Given the description of an element on the screen output the (x, y) to click on. 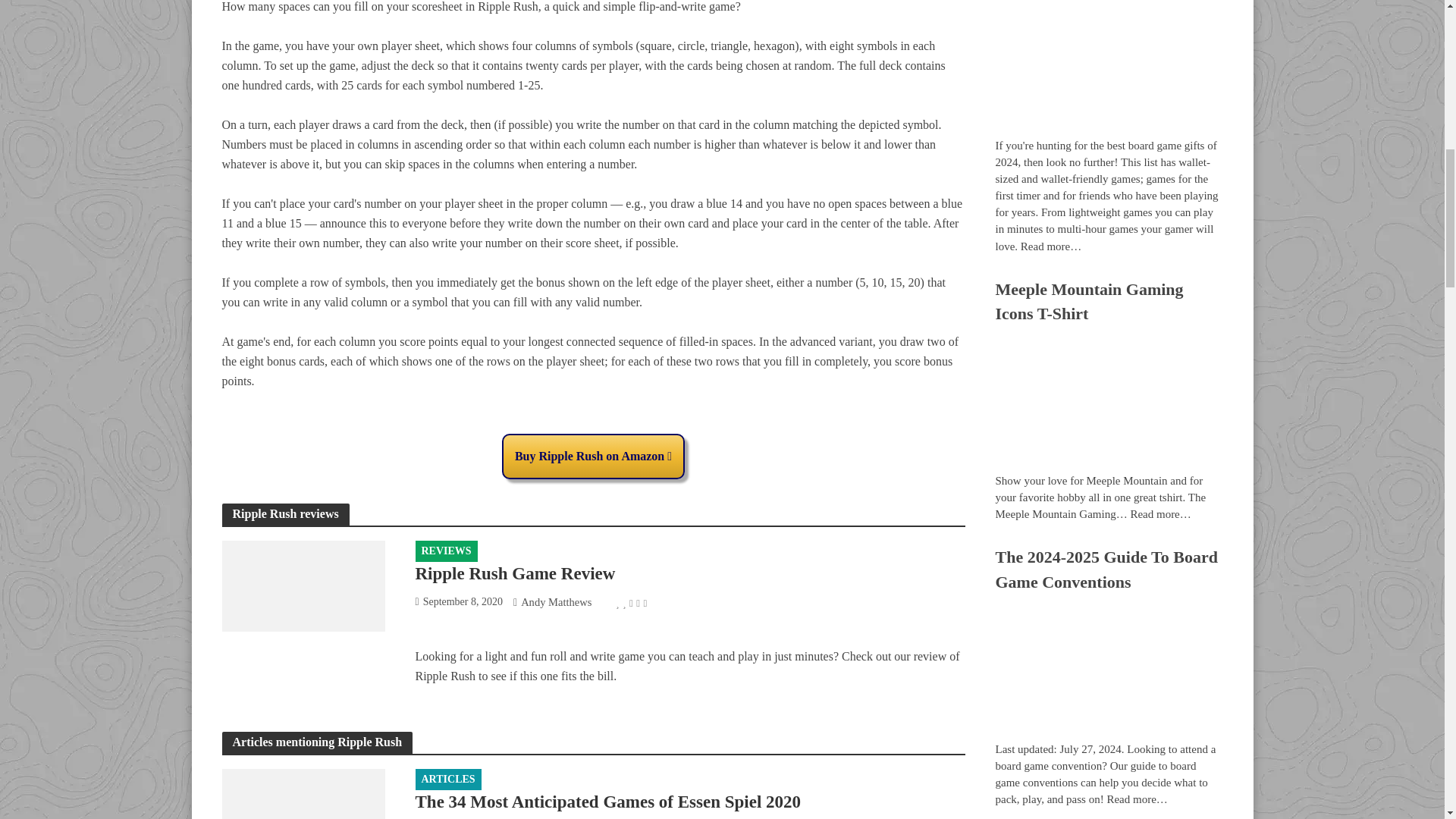
The 34 Most Anticipated Games of Essen Spiel 2020 (302, 812)
Ripple Rush Game Review (302, 584)
